Given the description of an element on the screen output the (x, y) to click on. 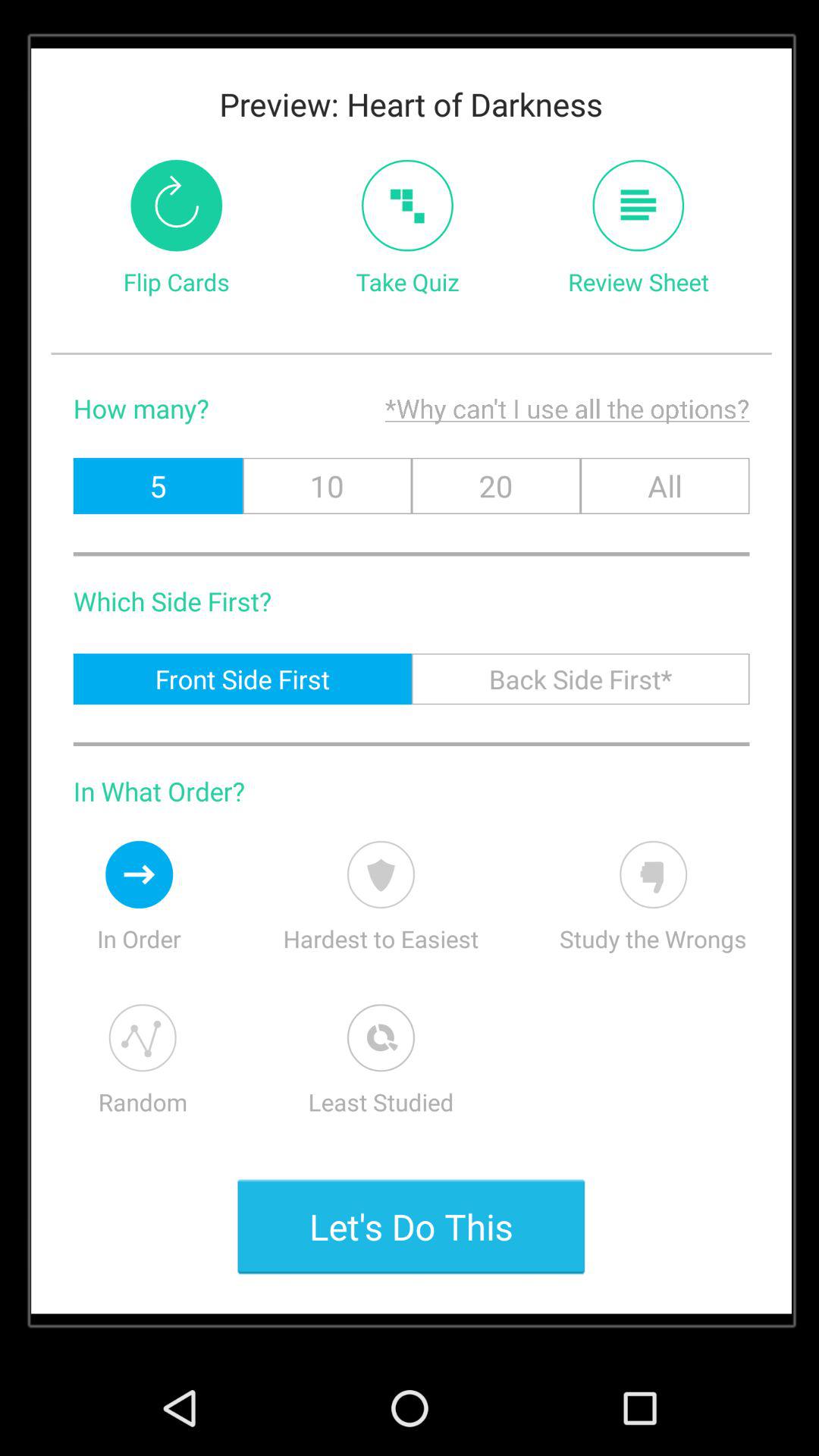
order randomly buttom (142, 1037)
